Given the description of an element on the screen output the (x, y) to click on. 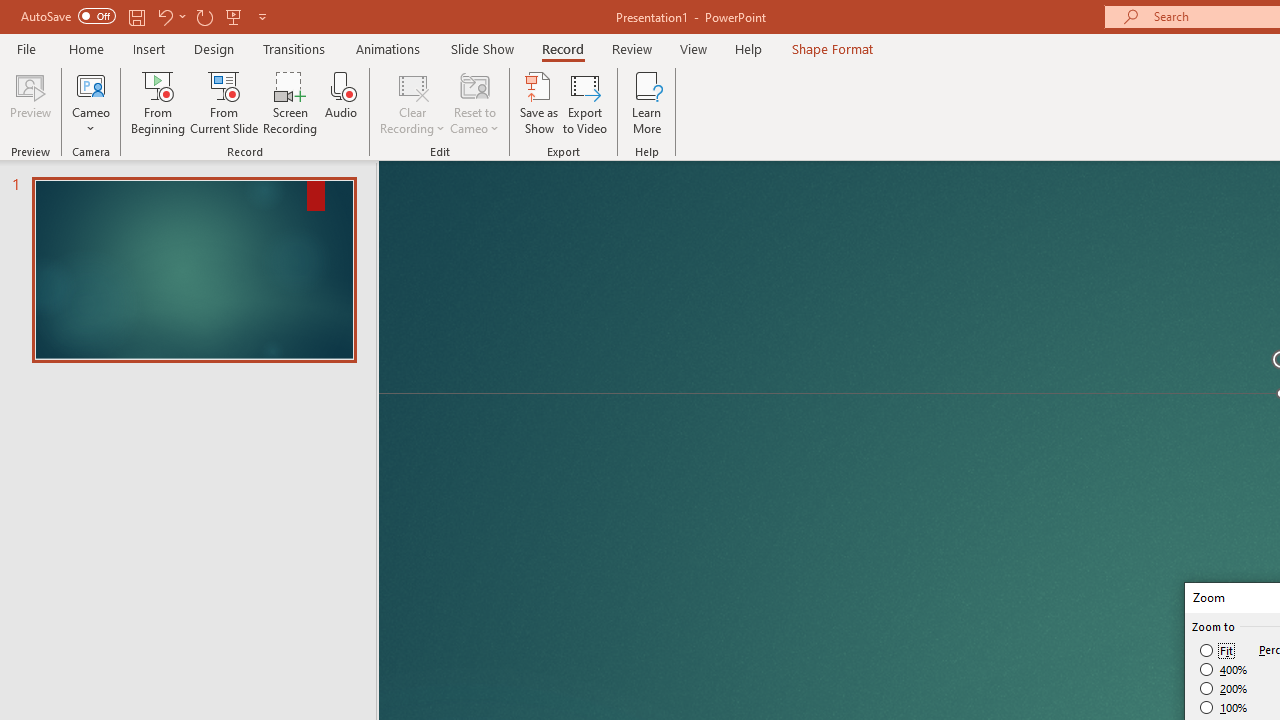
400% (1224, 669)
Clear Recording (412, 102)
Fit (1217, 650)
100% (1224, 707)
From Current Slide... (224, 102)
Export to Video (585, 102)
